Given the description of an element on the screen output the (x, y) to click on. 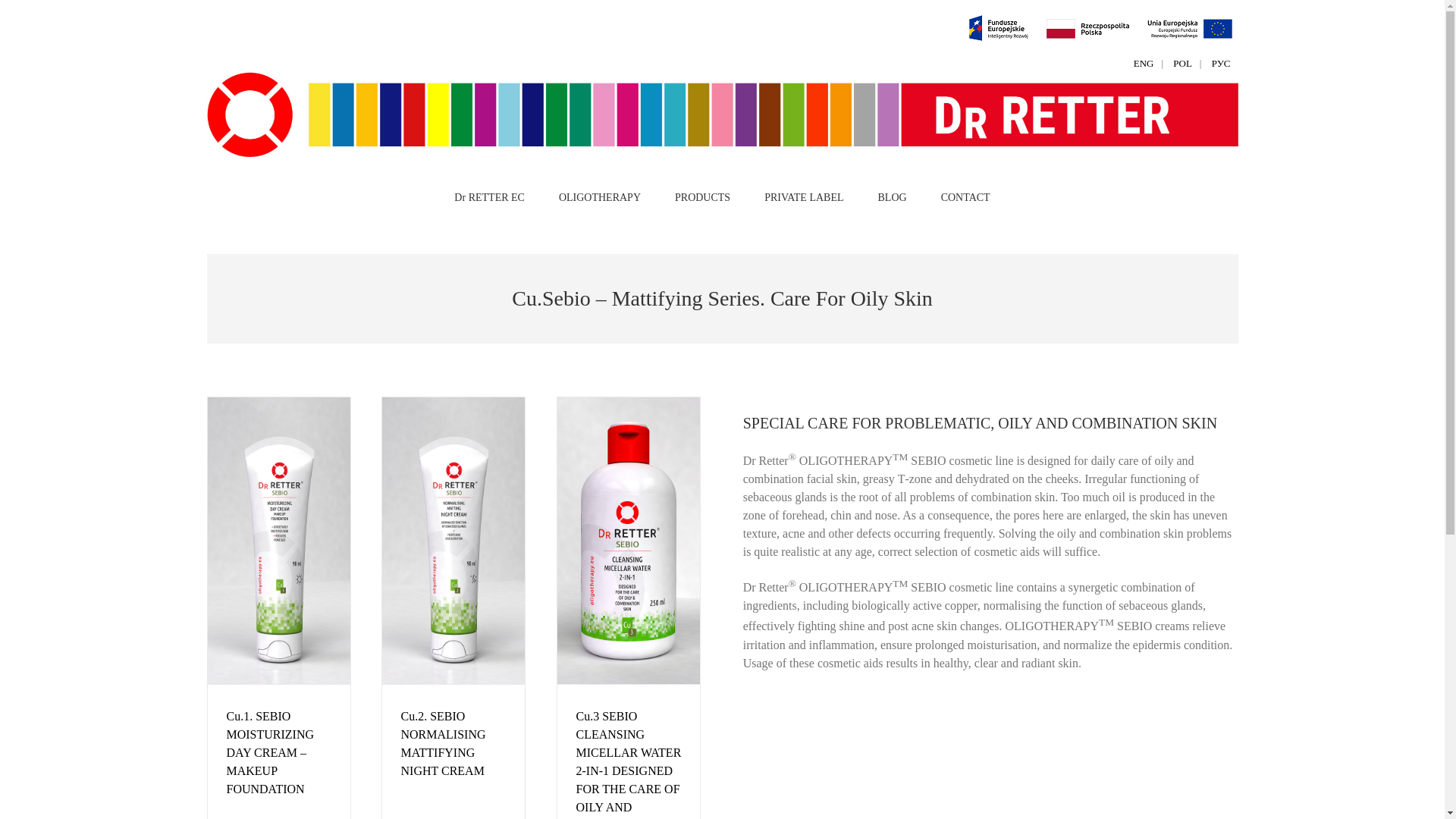
PRODUCTS (702, 195)
ENG (1143, 63)
OLIGOTHERAPY (599, 195)
PRIVATE LABEL (803, 195)
Cu.2. SEBIO NORMALISING MATTIFYING NIGHT CREAM (442, 743)
POL (1182, 63)
CONTACT (965, 195)
BLOG (892, 195)
Dr RETTER EC (489, 195)
